Given the description of an element on the screen output the (x, y) to click on. 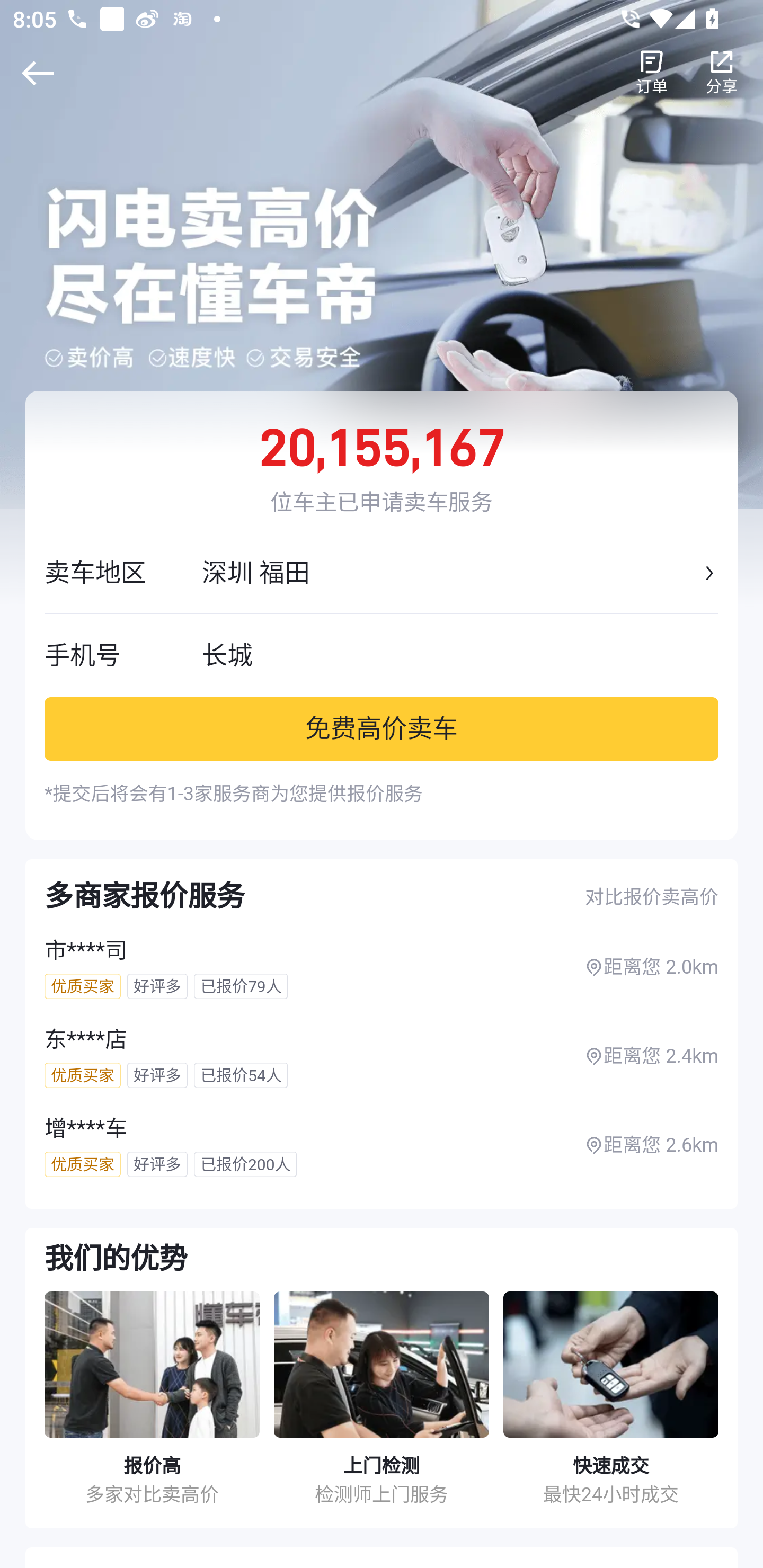
订单 (651, 72)
分享 (721, 72)
深圳 福田 (450, 572)
长城 (460, 655)
免费高价卖车 (381, 728)
